Given the description of an element on the screen output the (x, y) to click on. 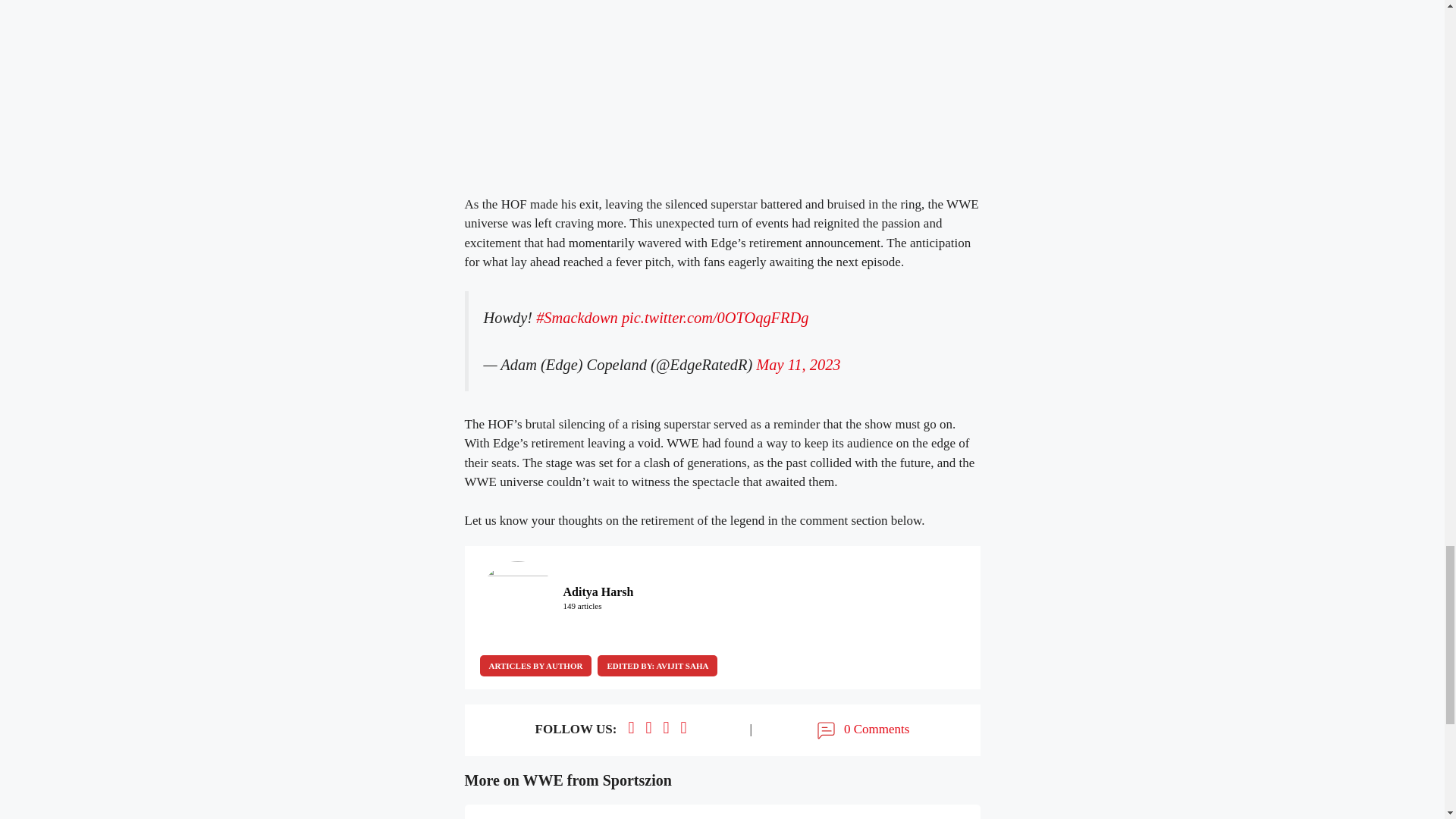
0 Comments (861, 730)
May 11, 2023 (797, 364)
ARTICLES BY AUTHOR (535, 665)
EDITED BY: AVIJIT SAHA (656, 665)
